Given the description of an element on the screen output the (x, y) to click on. 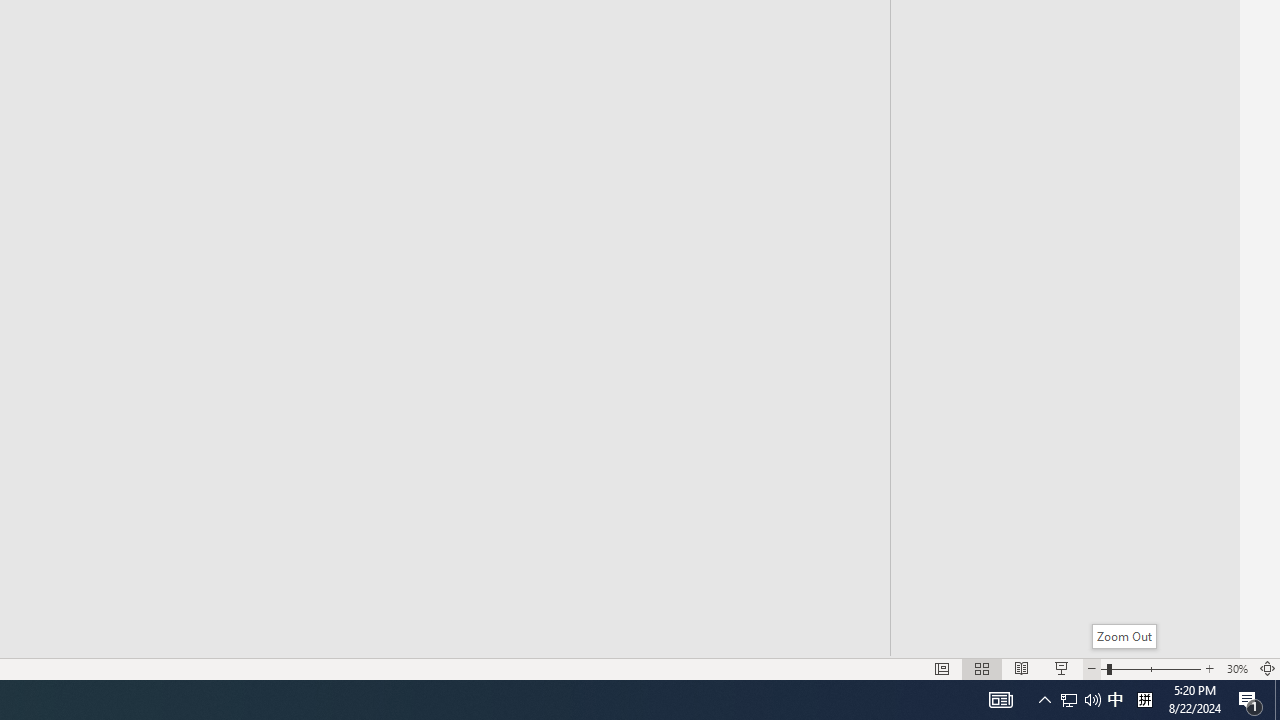
Zoom 30% (1236, 668)
